Given the description of an element on the screen output the (x, y) to click on. 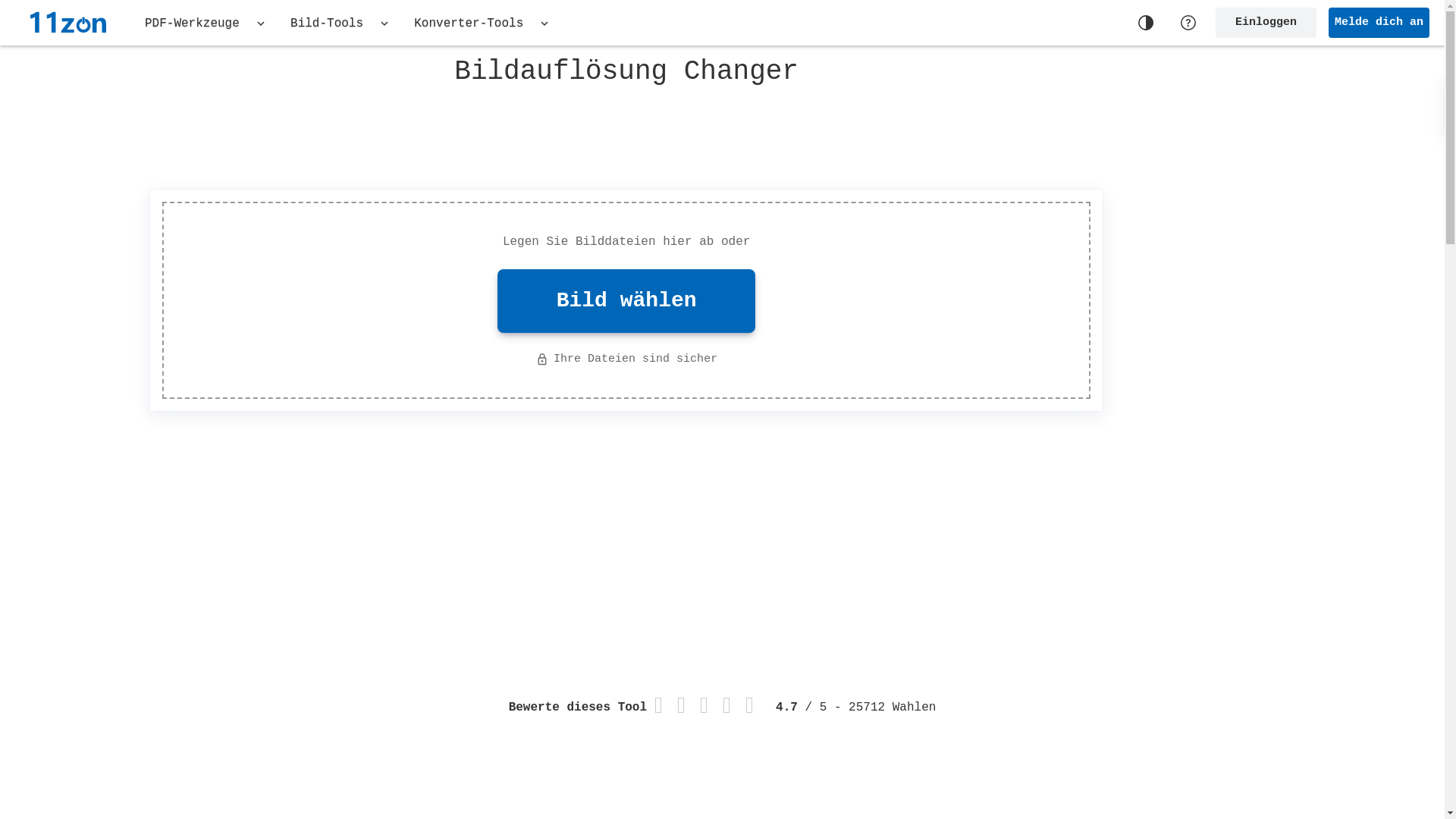
PDF-Werkzeuge   Element type: text (206, 22)
Melde dich an Element type: text (1378, 22)
Advertisement Element type: hover (626, 134)
Konverter-Tools   Element type: text (482, 22)
Bild-Tools   Element type: text (340, 22)
Einloggen Element type: text (1265, 22)
Advertisement Element type: hover (263, 520)
Advertisement Element type: hover (1279, 287)
Advertisement Element type: hover (974, 532)
